Given the description of an element on the screen output the (x, y) to click on. 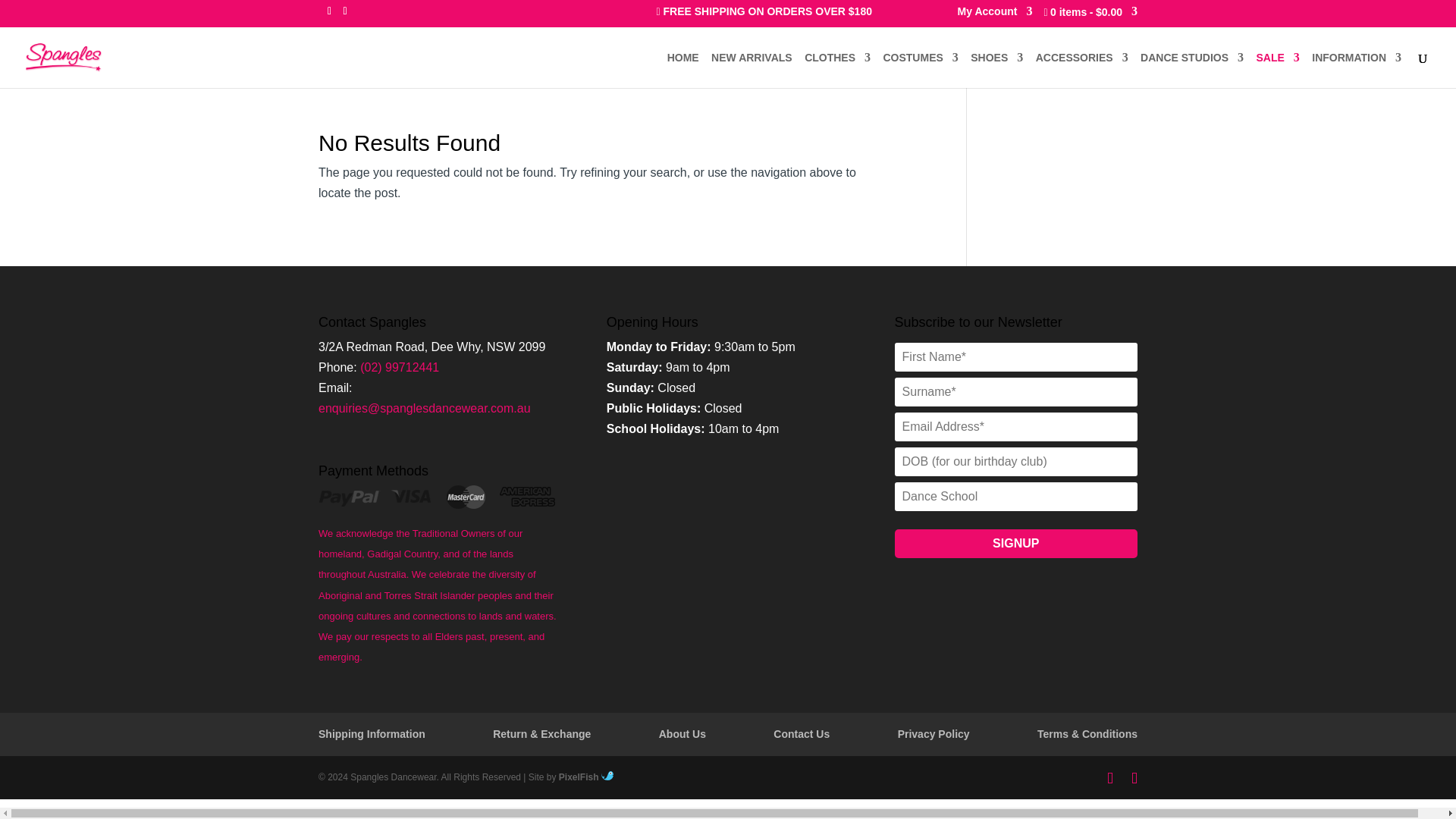
Start shopping (1090, 16)
HOME (682, 68)
NEW ARRIVALS (751, 68)
My Account (995, 15)
CLOTHES (837, 68)
Signup (1016, 543)
